Given the description of an element on the screen output the (x, y) to click on. 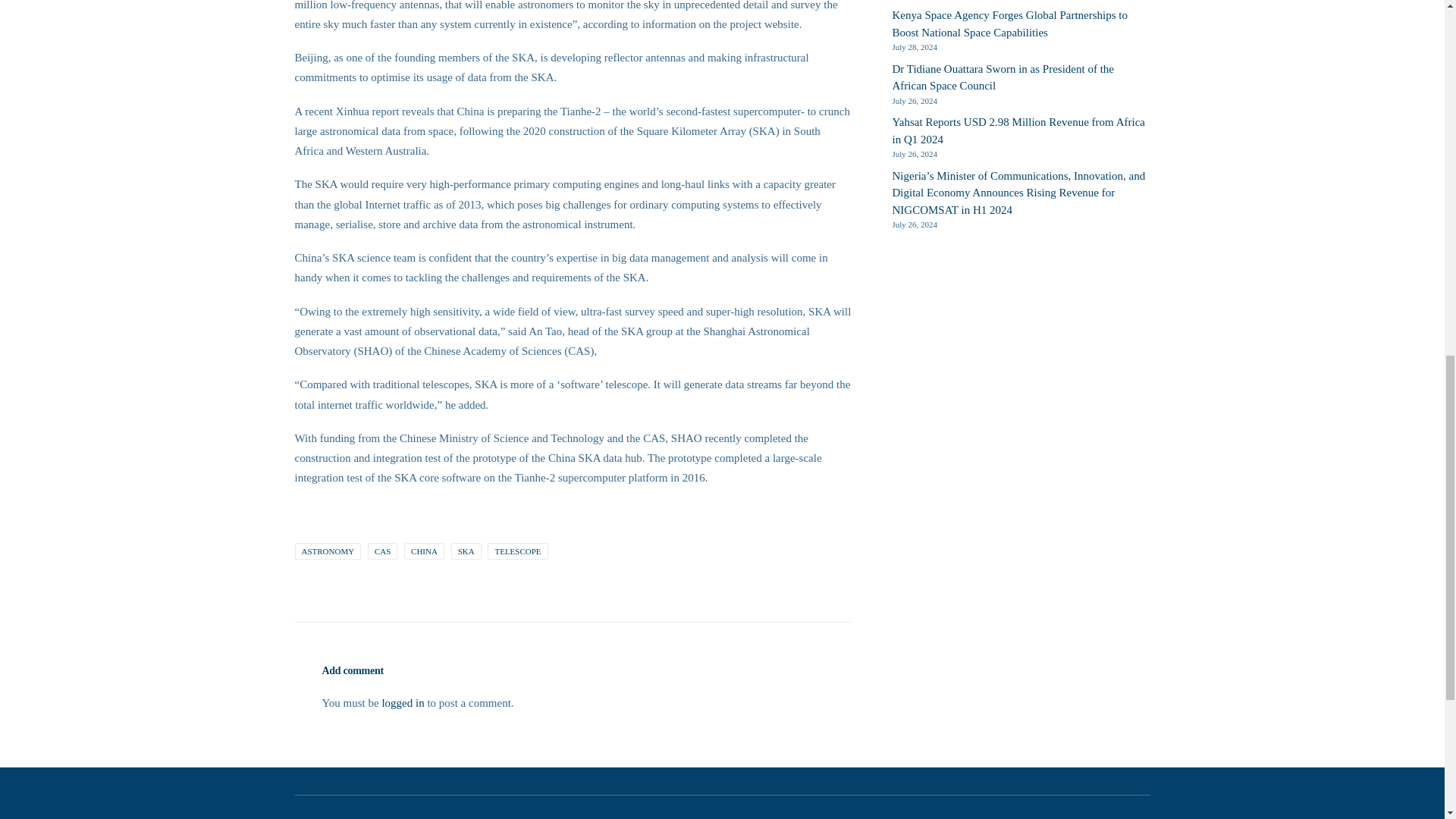
CHINA (424, 550)
ASTRONOMY (327, 550)
CAS (382, 550)
TELESCOPE (517, 550)
logged in (402, 702)
SKA (466, 550)
